Given the description of an element on the screen output the (x, y) to click on. 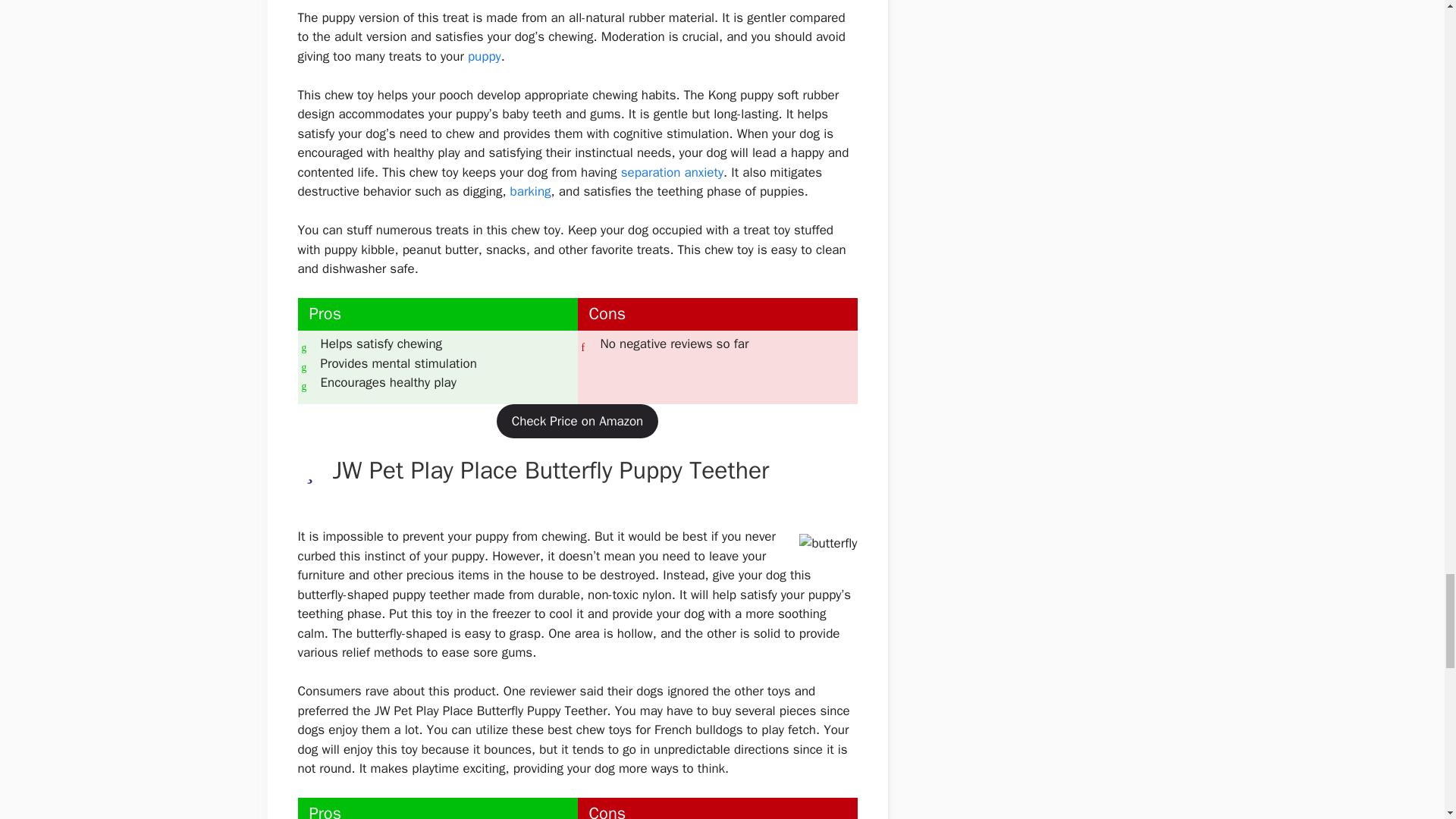
puppy (483, 56)
separation anxiety (672, 172)
